Given the description of an element on the screen output the (x, y) to click on. 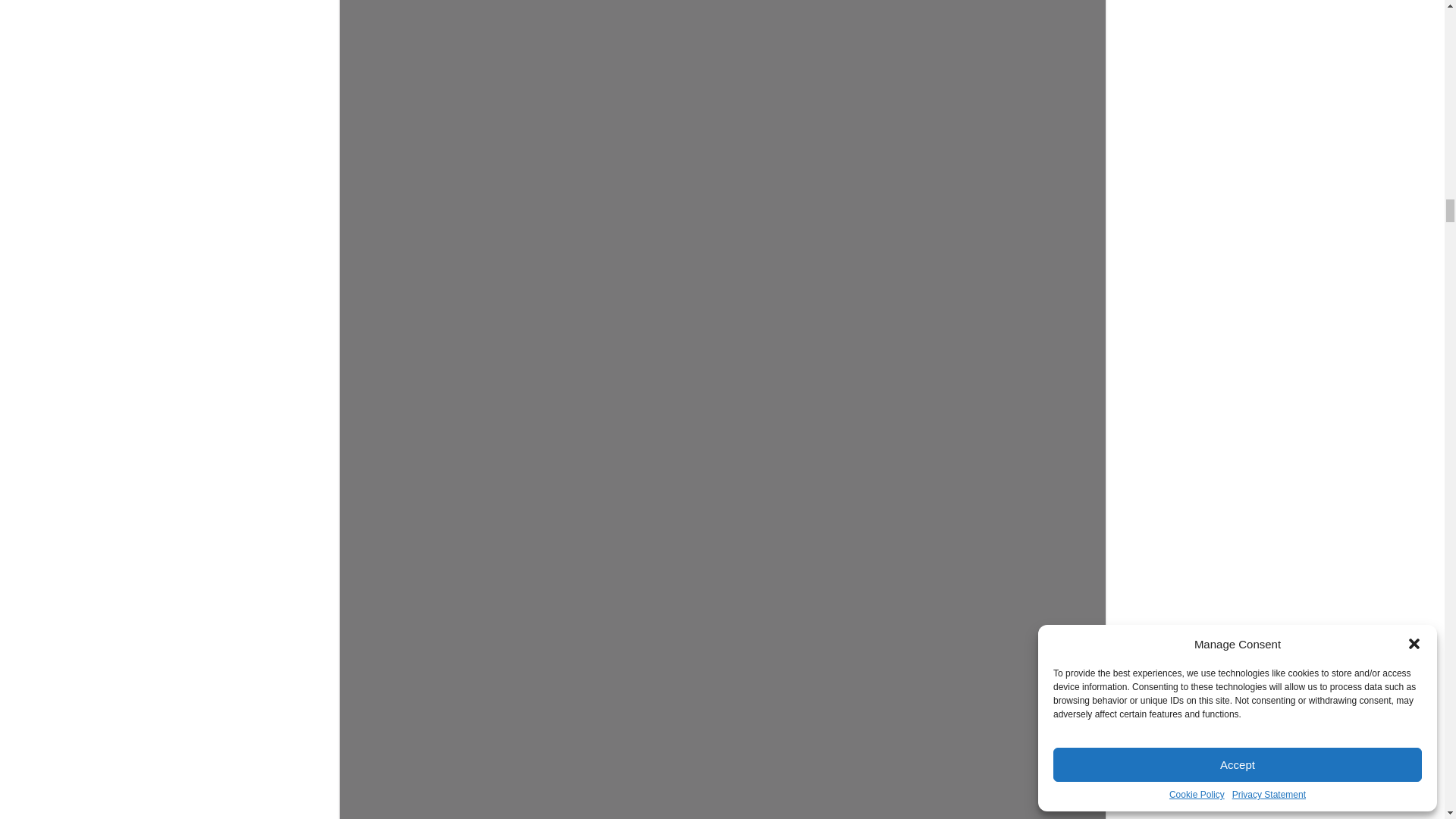
Painting by David K. Lobenberg (722, 590)
